Given the description of an element on the screen output the (x, y) to click on. 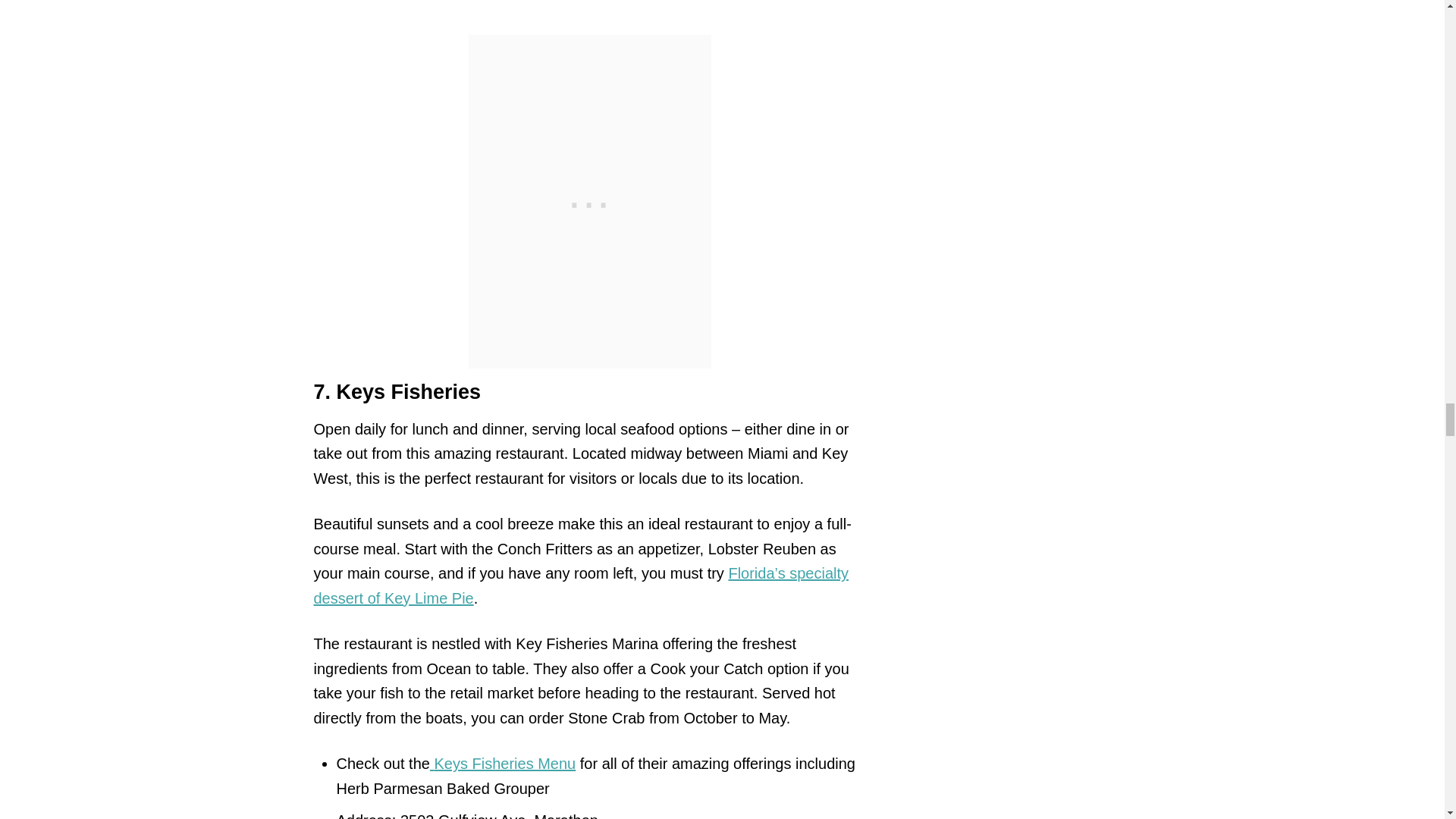
Best Restaurants in Marathon, Florida that you must TRY! 6 (590, 9)
